Given the description of an element on the screen output the (x, y) to click on. 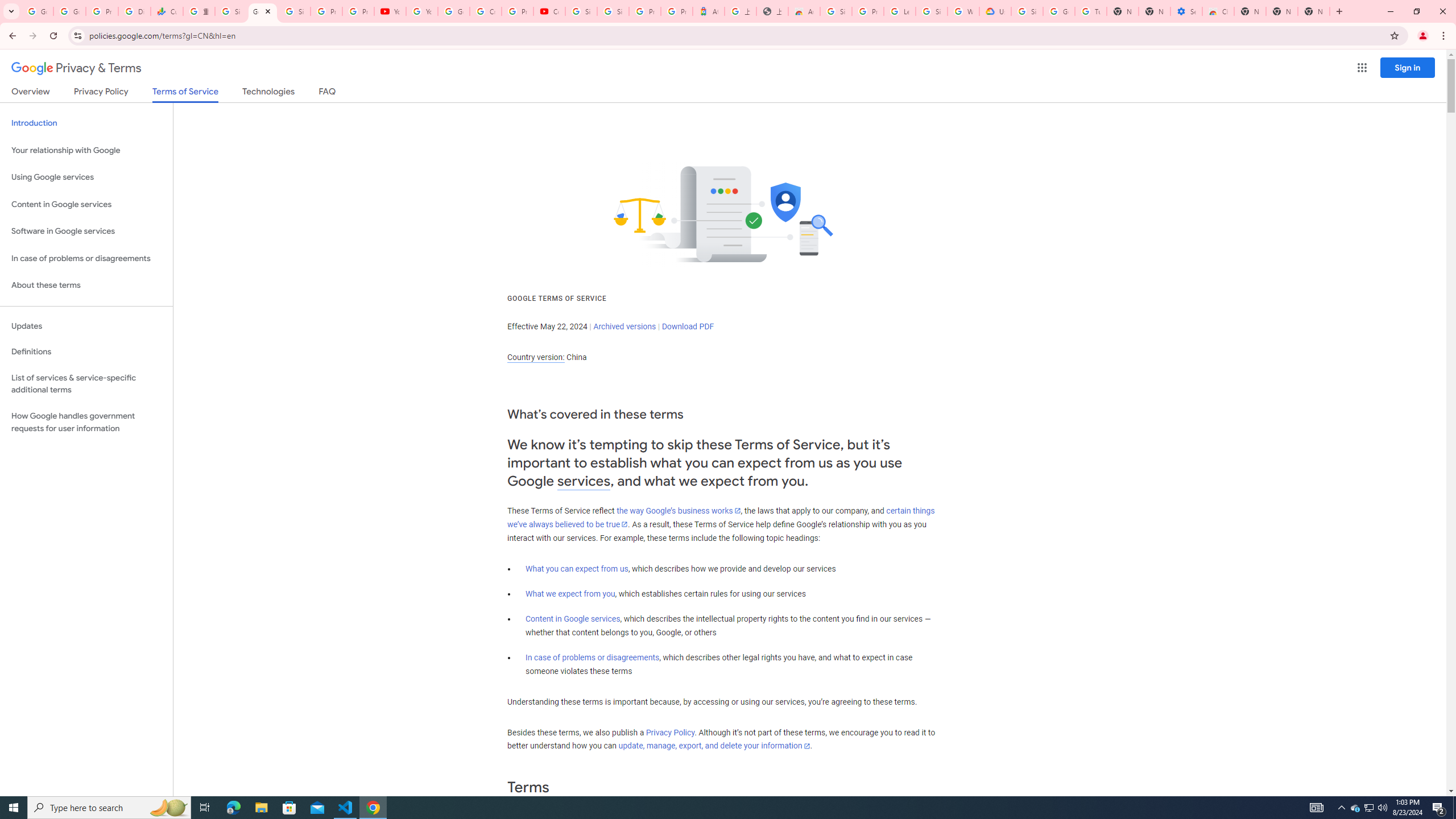
Sign in - Google Accounts (294, 11)
Create your Google Account (485, 11)
In case of problems or disagreements (592, 657)
Settings - Accessibility (1185, 11)
Technologies (268, 93)
Privacy Policy (669, 732)
services (583, 480)
